Given the description of an element on the screen output the (x, y) to click on. 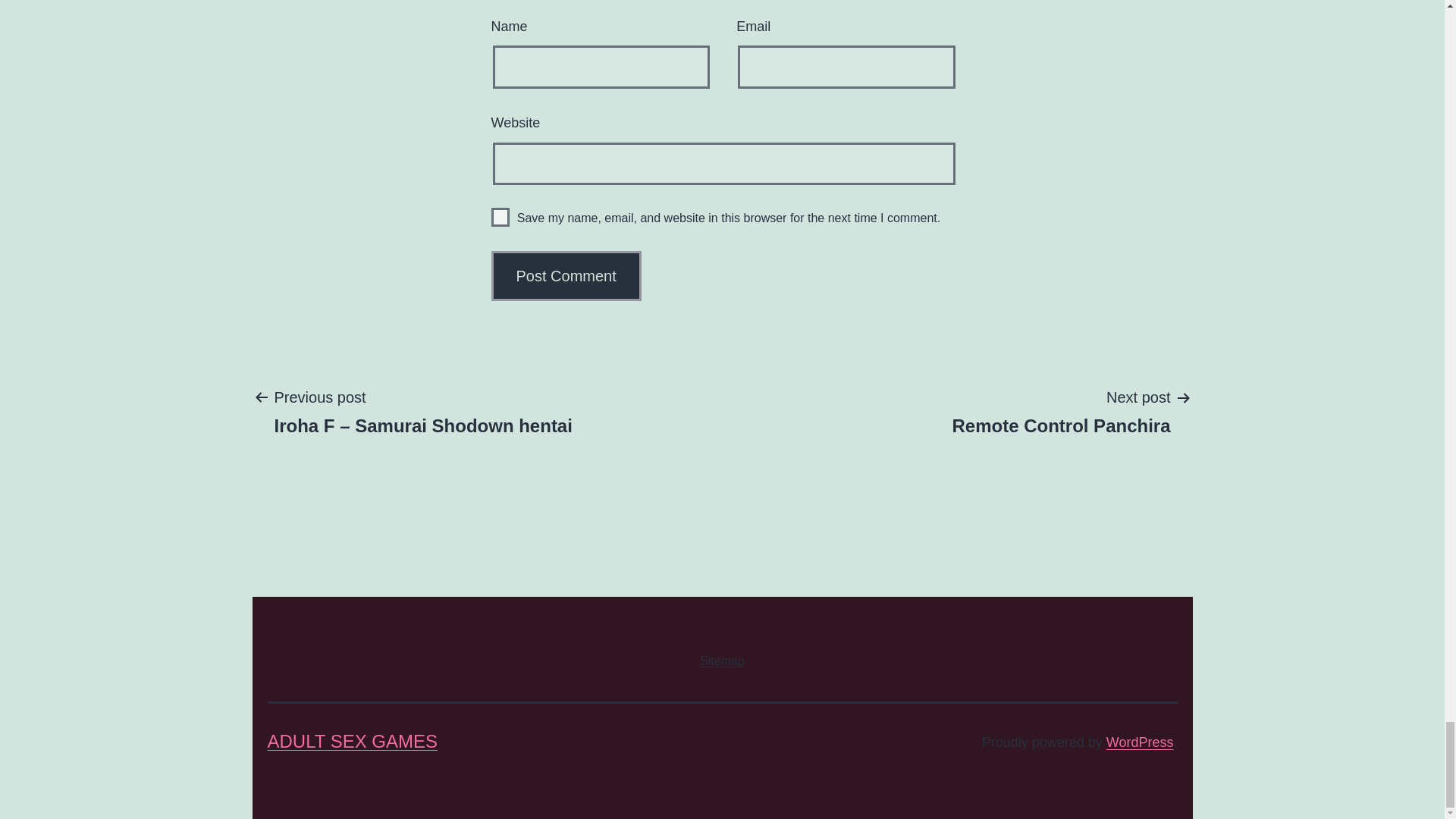
Sitemap (1061, 410)
WordPress (722, 660)
yes (1139, 742)
Post Comment (500, 217)
Post Comment (567, 275)
ADULT SEX GAMES (567, 275)
